Given the description of an element on the screen output the (x, y) to click on. 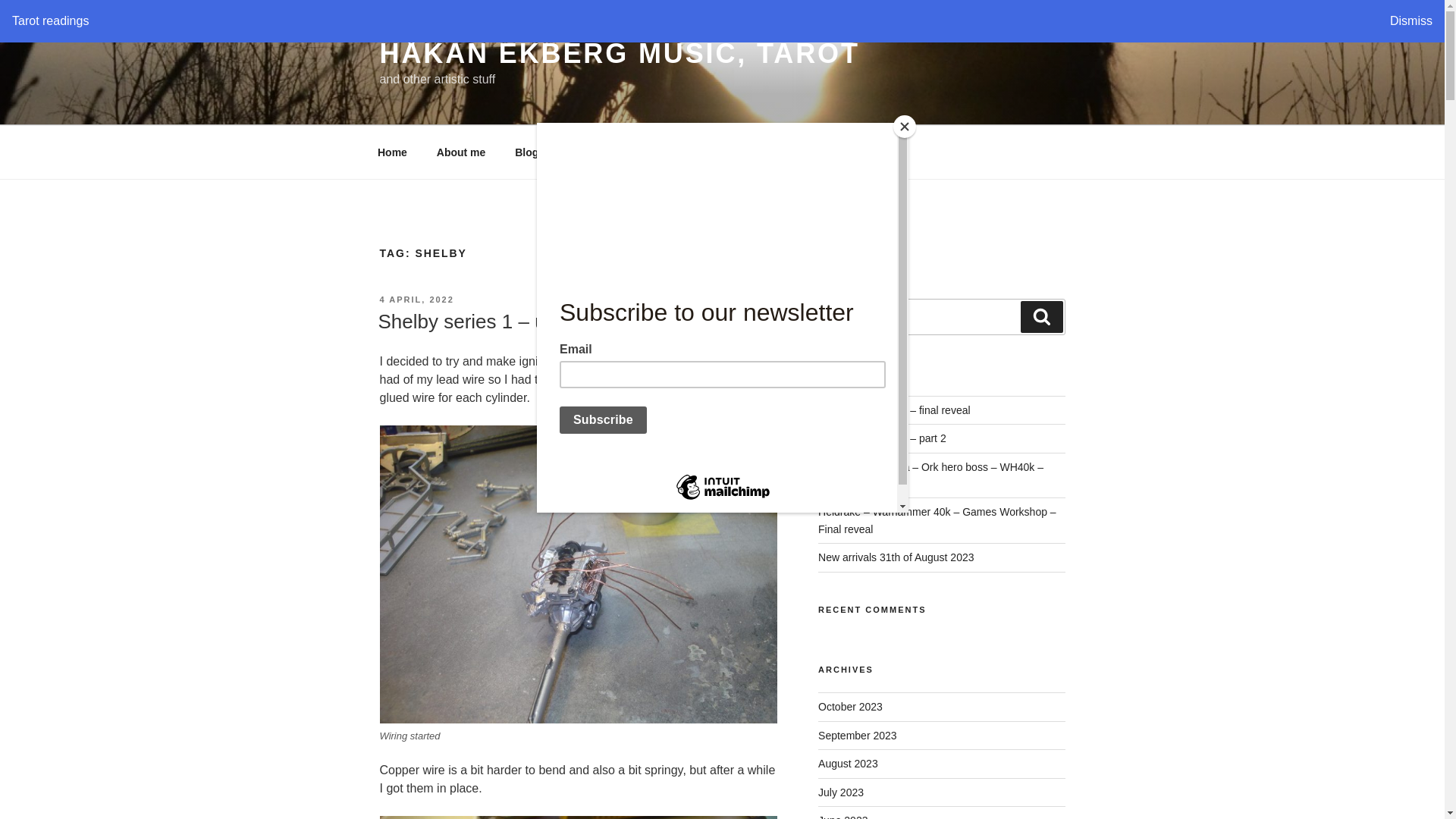
Home (392, 151)
Music (697, 151)
Blog (526, 151)
Finished models (793, 151)
4 APRIL, 2022 (415, 298)
About me (461, 151)
